Given the description of an element on the screen output the (x, y) to click on. 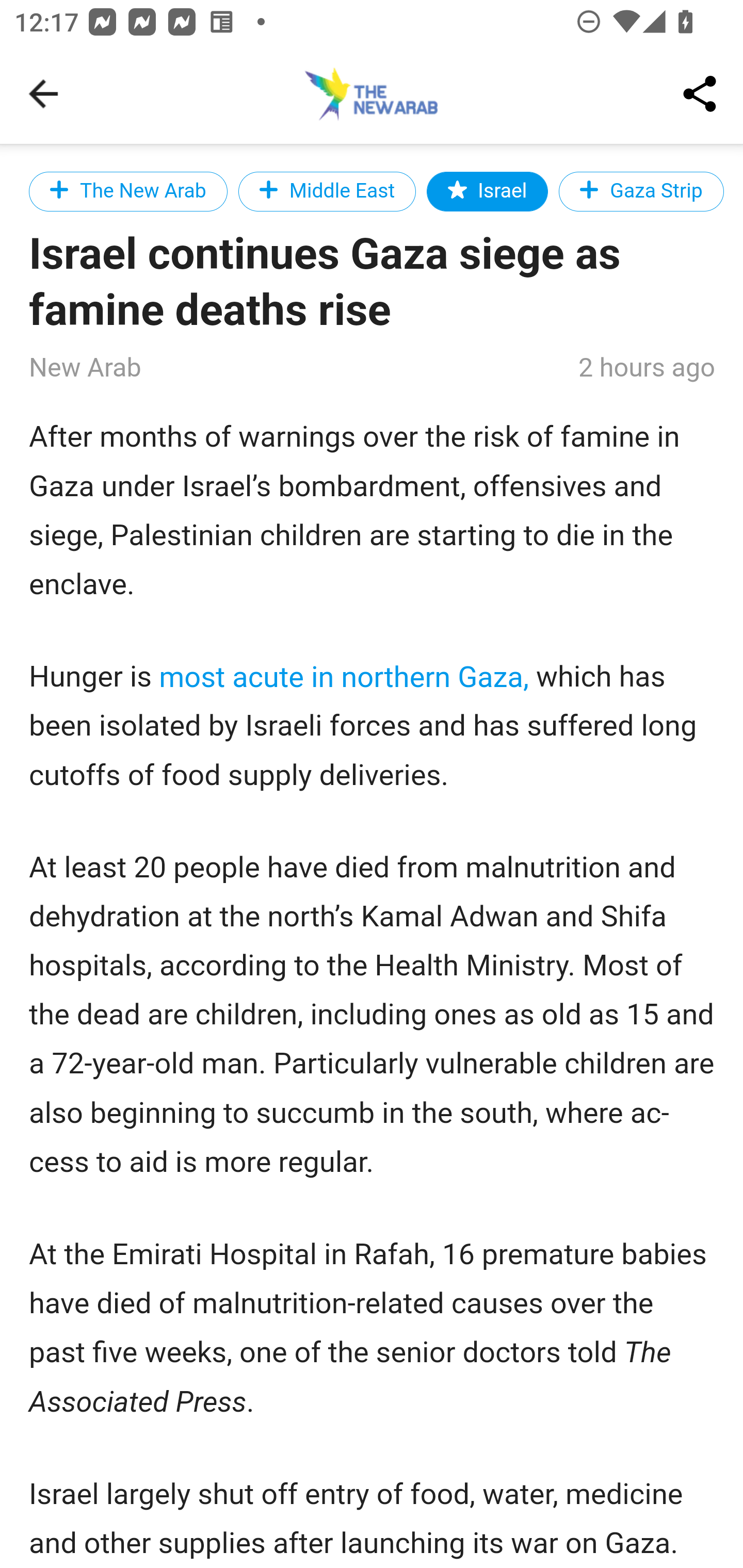
The New Arab (128, 191)
Middle East (326, 191)
Israel (487, 191)
Gaza Strip (640, 191)
most acute in northern Gaza, (345, 676)
